Given the description of an element on the screen output the (x, y) to click on. 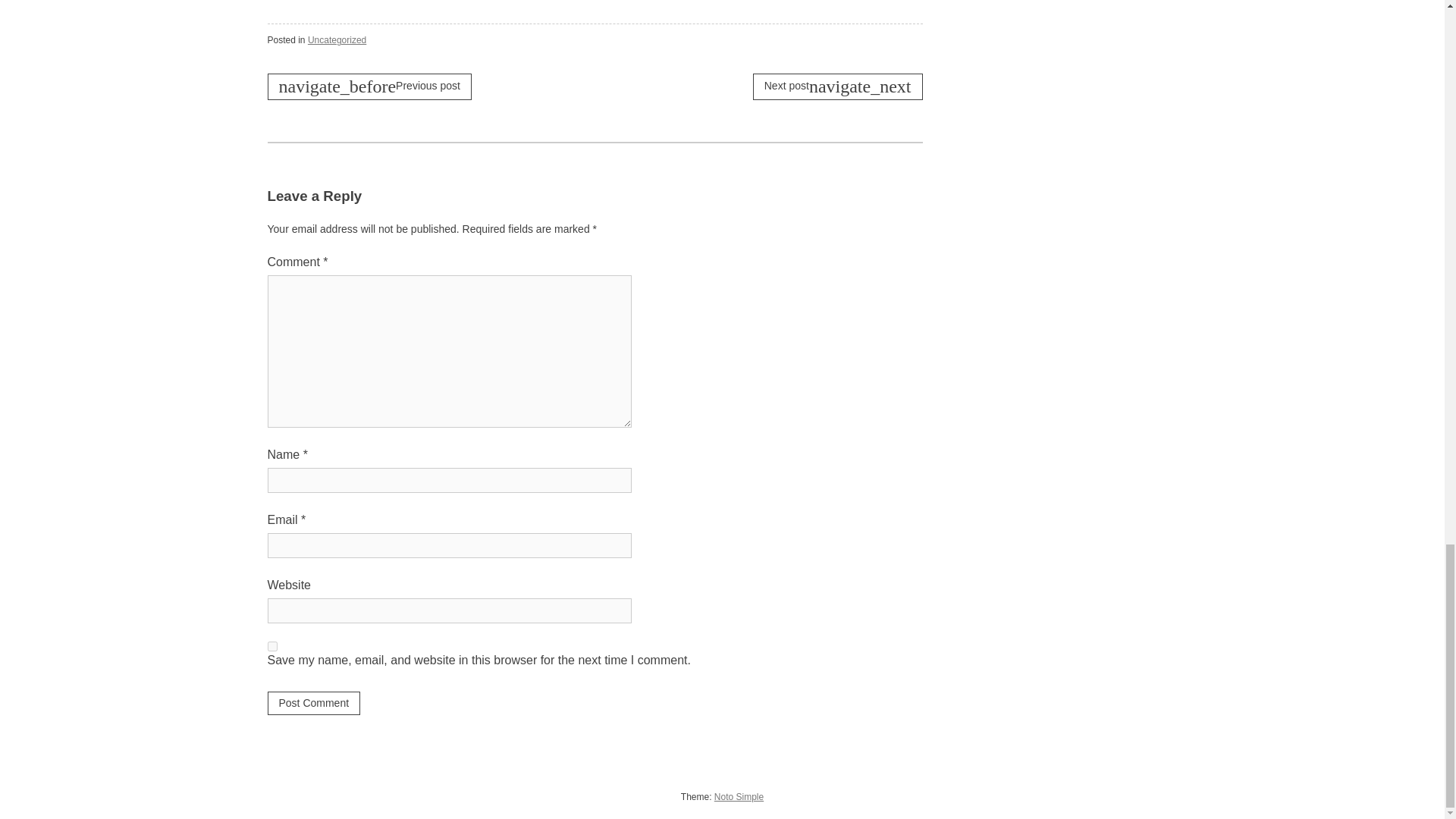
Uncategorized (336, 40)
yes (271, 646)
Post Comment (312, 702)
Noto Simple (738, 796)
Post Comment (312, 702)
